Given the description of an element on the screen output the (x, y) to click on. 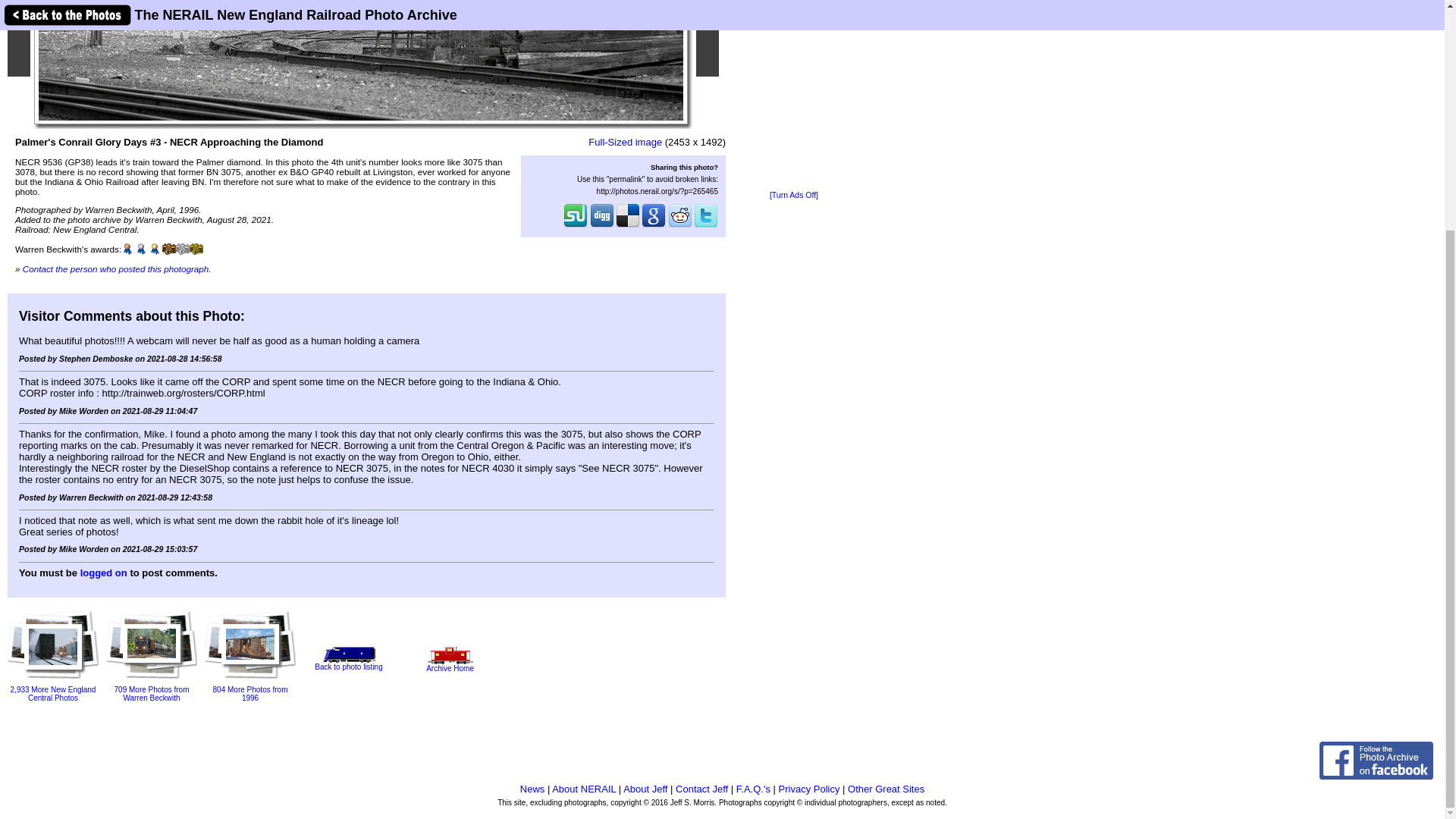
709 More Photos from Warren Beckwith (151, 682)
804 More Photos from 1996 (250, 683)
Twit This (705, 225)
Contact the person who posted this photograph (116, 268)
logged on (104, 572)
Contact Jeff (701, 788)
About NERAIL (583, 788)
Archive Home (450, 664)
Submit to Google Bookmarks (653, 225)
About Jeff (644, 788)
